Given the description of an element on the screen output the (x, y) to click on. 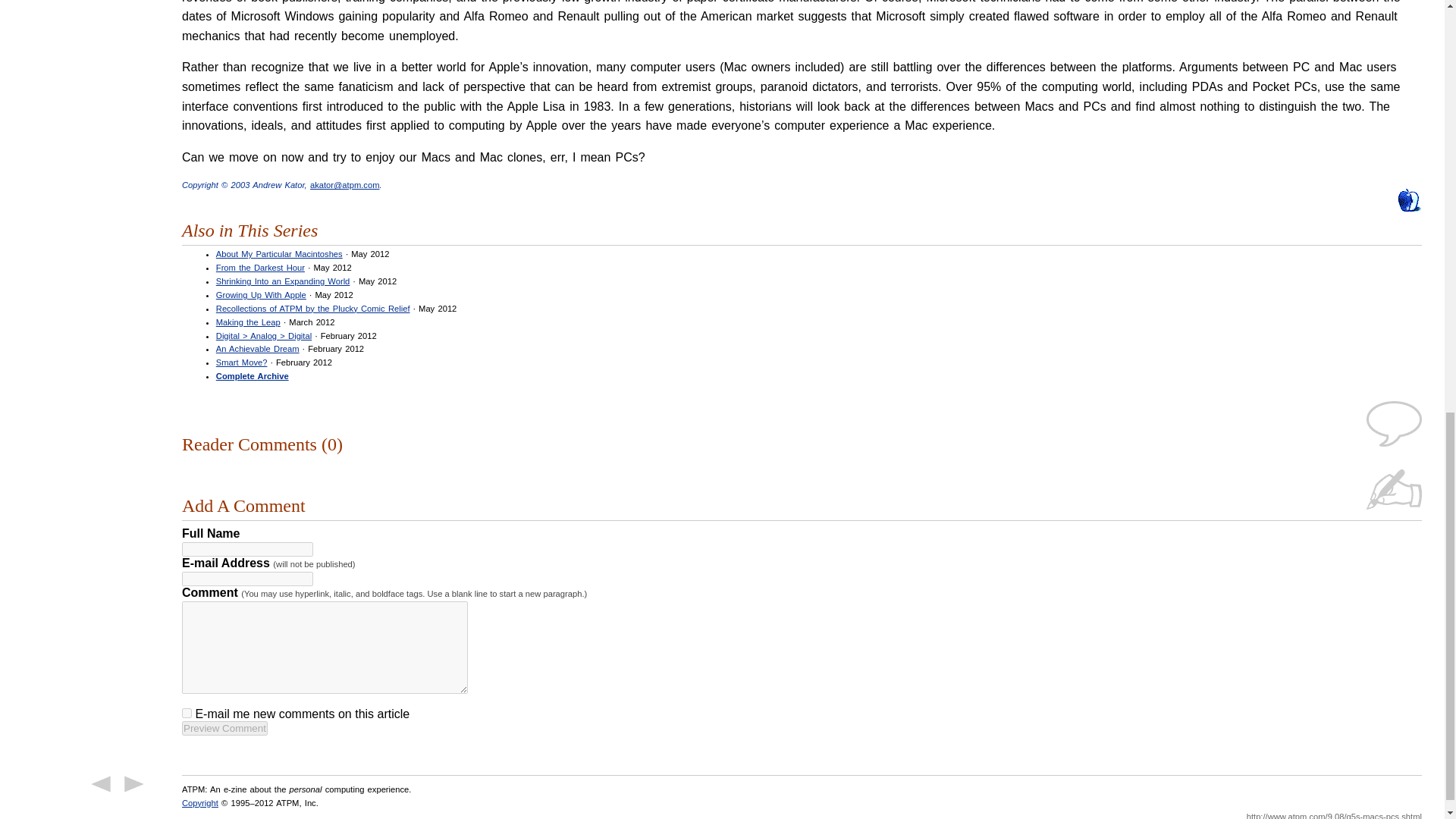
About My Particular Macintoshes (278, 253)
True (187, 713)
Growing Up With Apple (260, 294)
Preview Comment (224, 728)
Shrinking Into an Expanding World (282, 280)
From the Darkest Hour (259, 266)
